Given the description of an element on the screen output the (x, y) to click on. 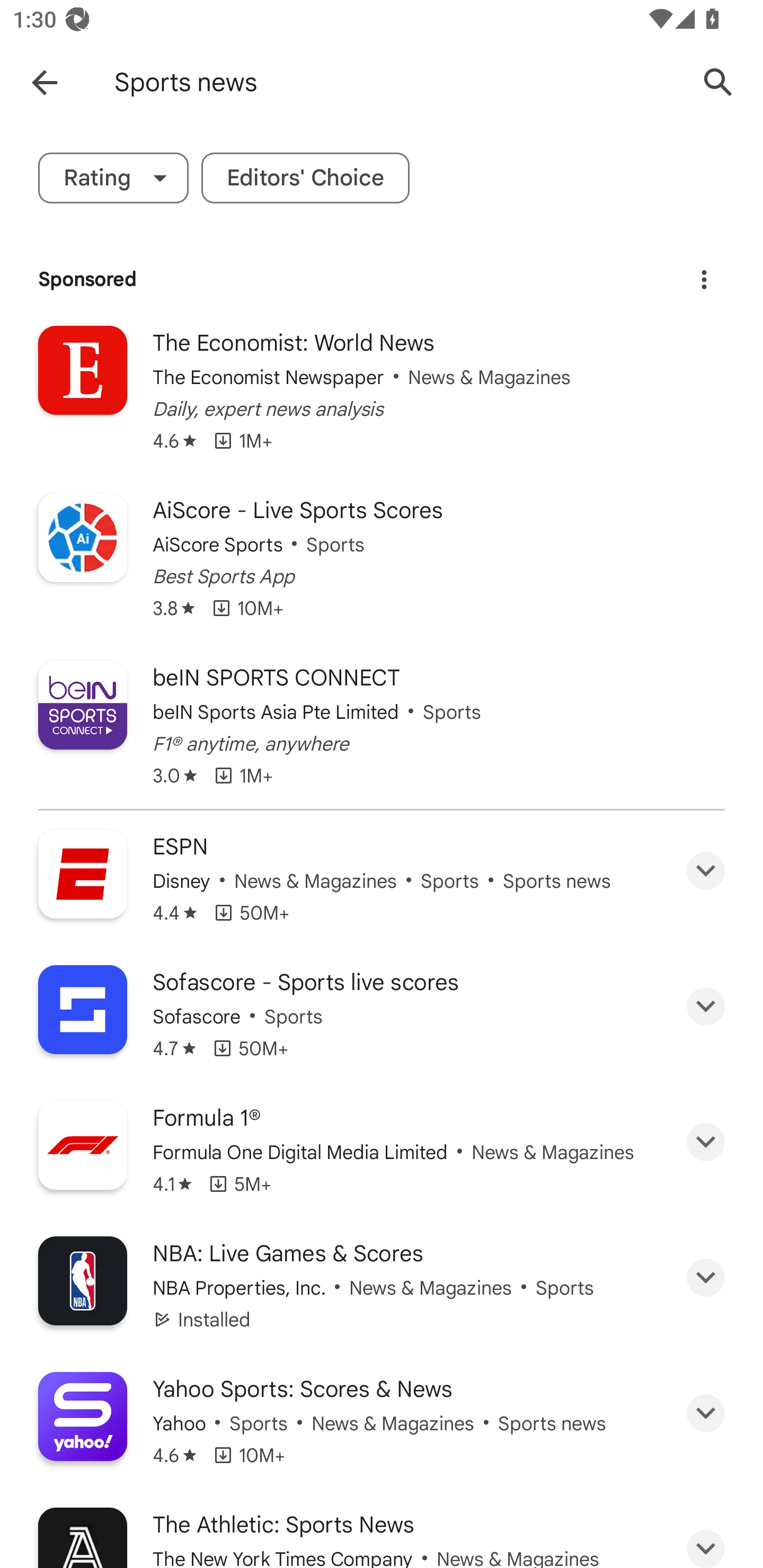
Sports news (397, 82)
Navigate up (44, 81)
Search Google Play (718, 81)
Rating - double tap to change the filter (113, 177)
Editors' Choice - double tap to toggle the filter (305, 177)
About this ad (704, 274)
Expand content for ESPN (705, 870)
Expand content for Sofascore - Sports live scores (705, 1006)
Expand content for Formula 1® (705, 1141)
Expand content for NBA: Live Games & Scores (705, 1277)
Expand content for Yahoo Sports: Scores & News (705, 1413)
Expand content for The Athletic: Sports News (705, 1539)
